Given the description of an element on the screen output the (x, y) to click on. 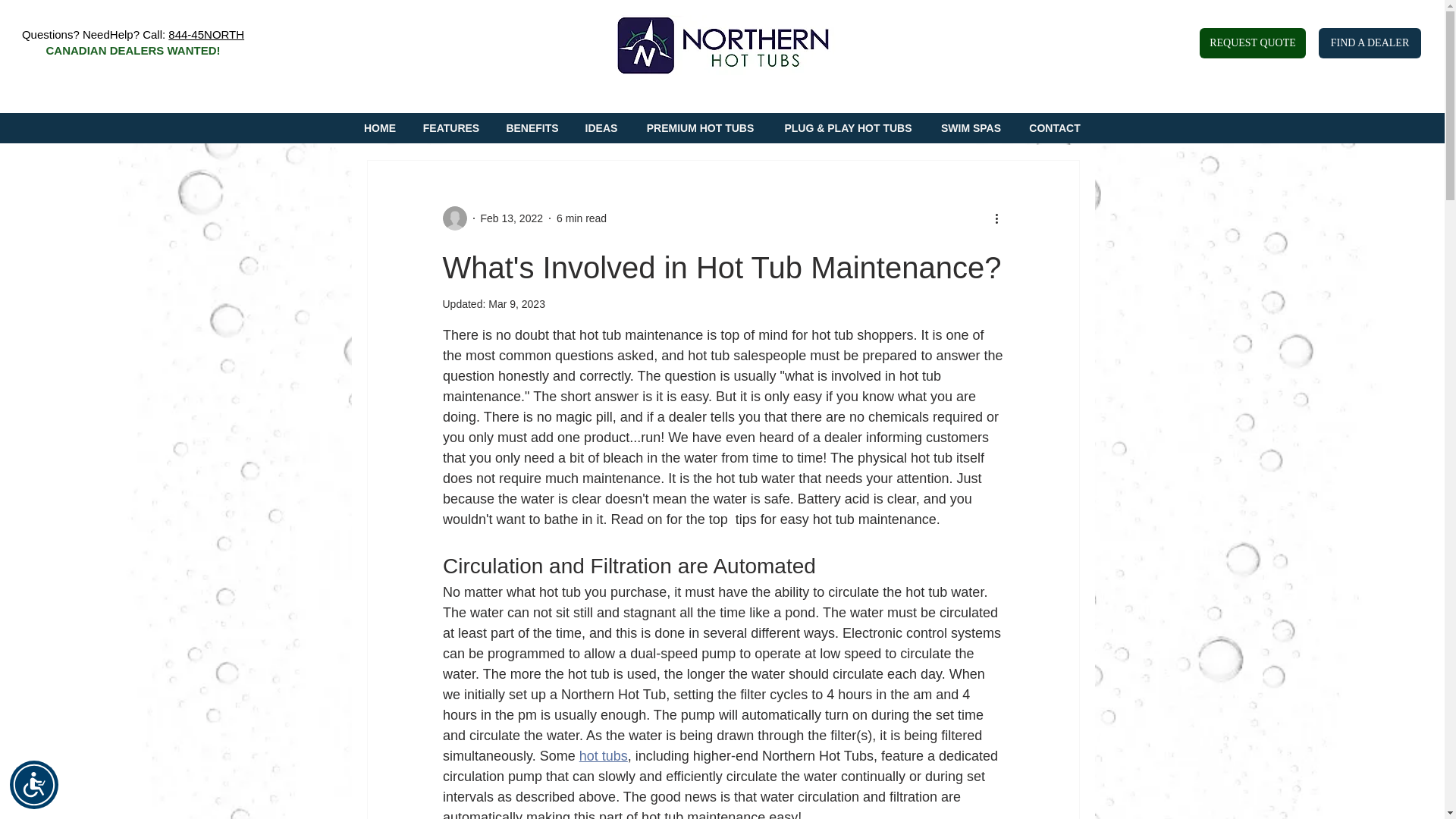
6 min read (581, 218)
hot tubs (602, 755)
Mar 9, 2023 (515, 304)
FIND A DEALER (1370, 42)
HOME (379, 128)
CONTACT (1053, 128)
Feb 13, 2022 (511, 218)
BENEFITS (532, 128)
REQUEST QUOTE (1252, 42)
FEATURES (451, 128)
Accessibility Menu (34, 784)
SWIM SPAS (970, 128)
IDEAS (601, 128)
